Given the description of an element on the screen output the (x, y) to click on. 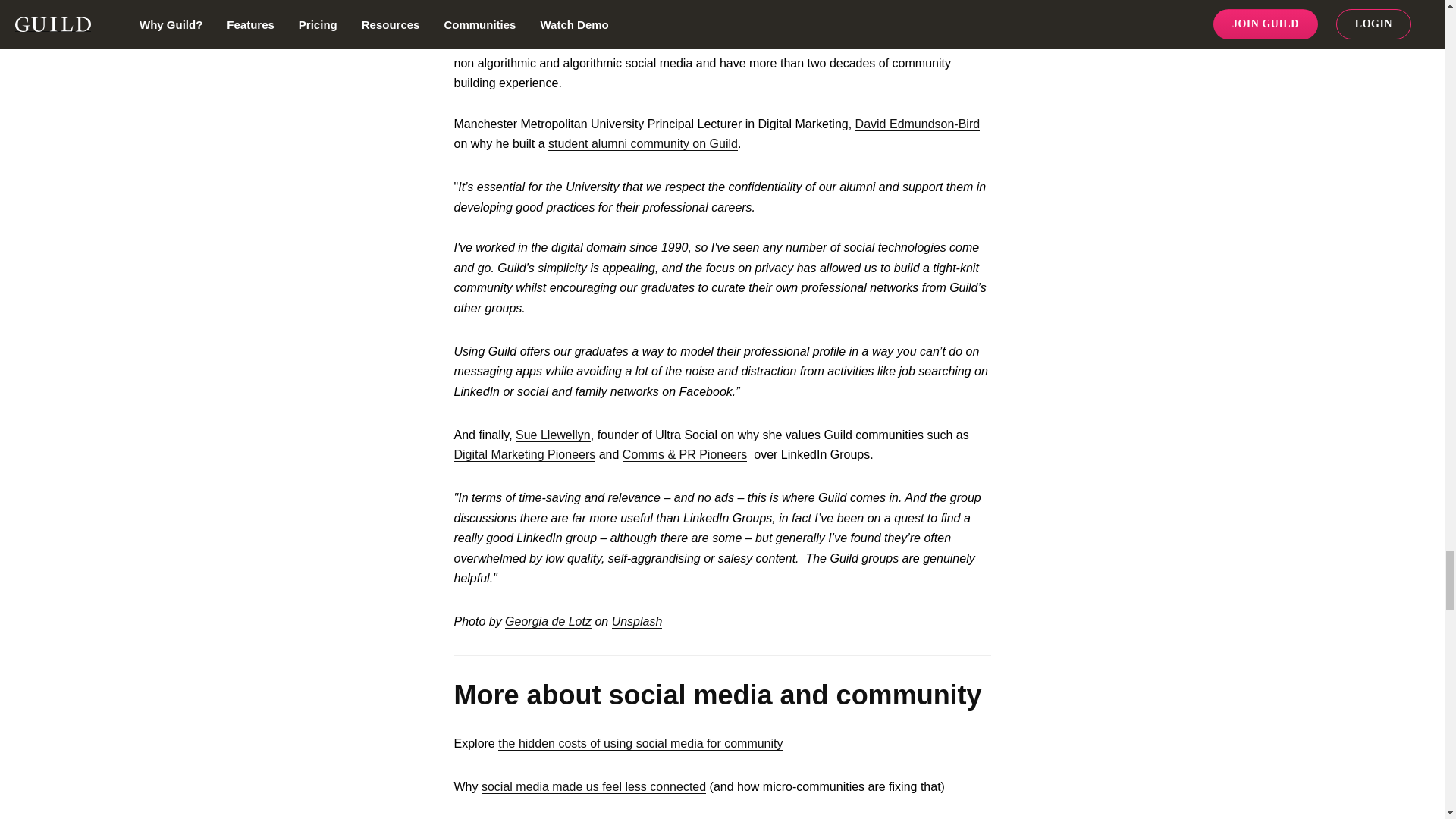
David Edmundson-Bird (917, 124)
student alumni community on Guild (643, 143)
Sue Llewellyn (553, 435)
